Given the description of an element on the screen output the (x, y) to click on. 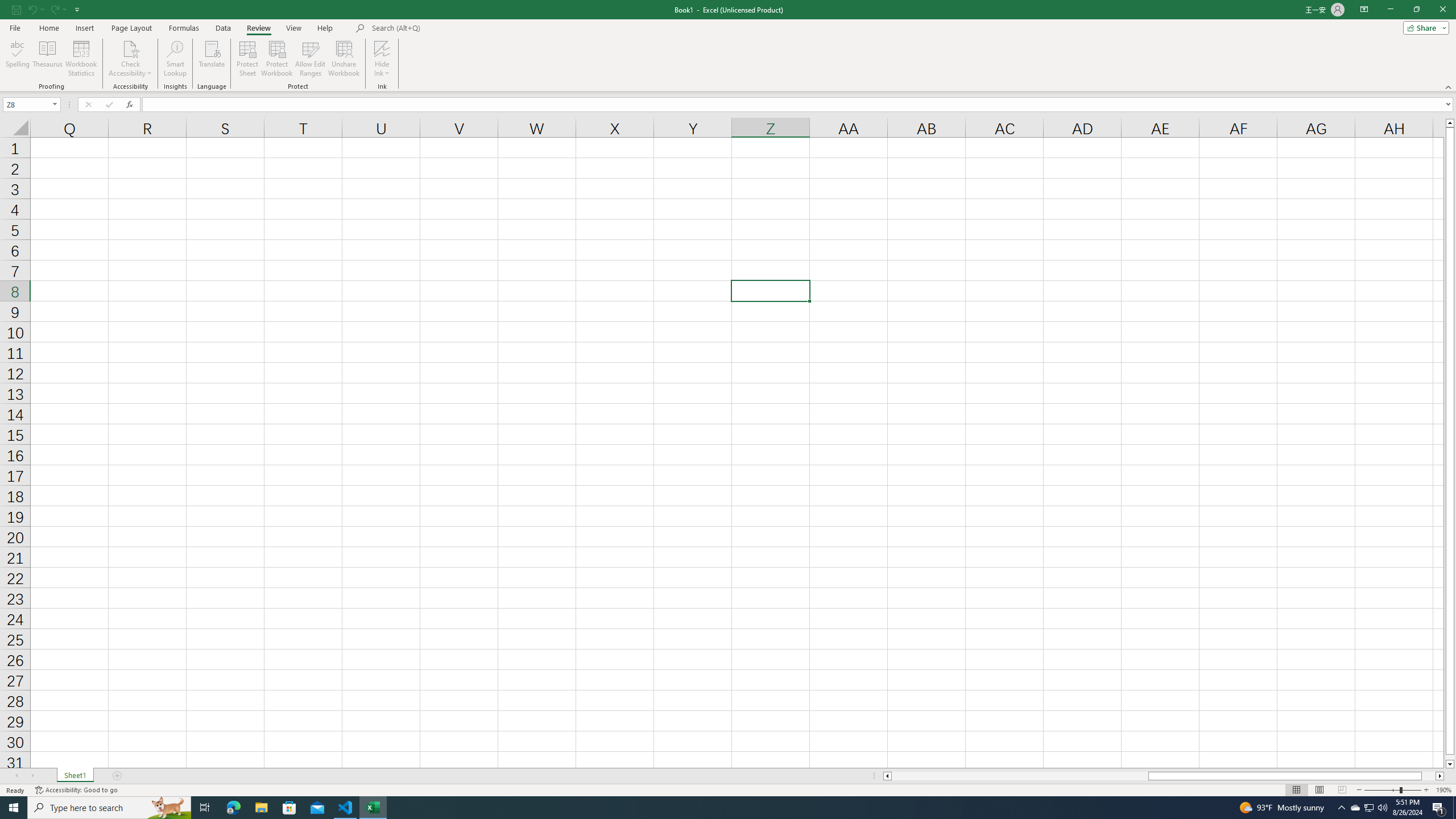
Spelling... (17, 58)
